Given the description of an element on the screen output the (x, y) to click on. 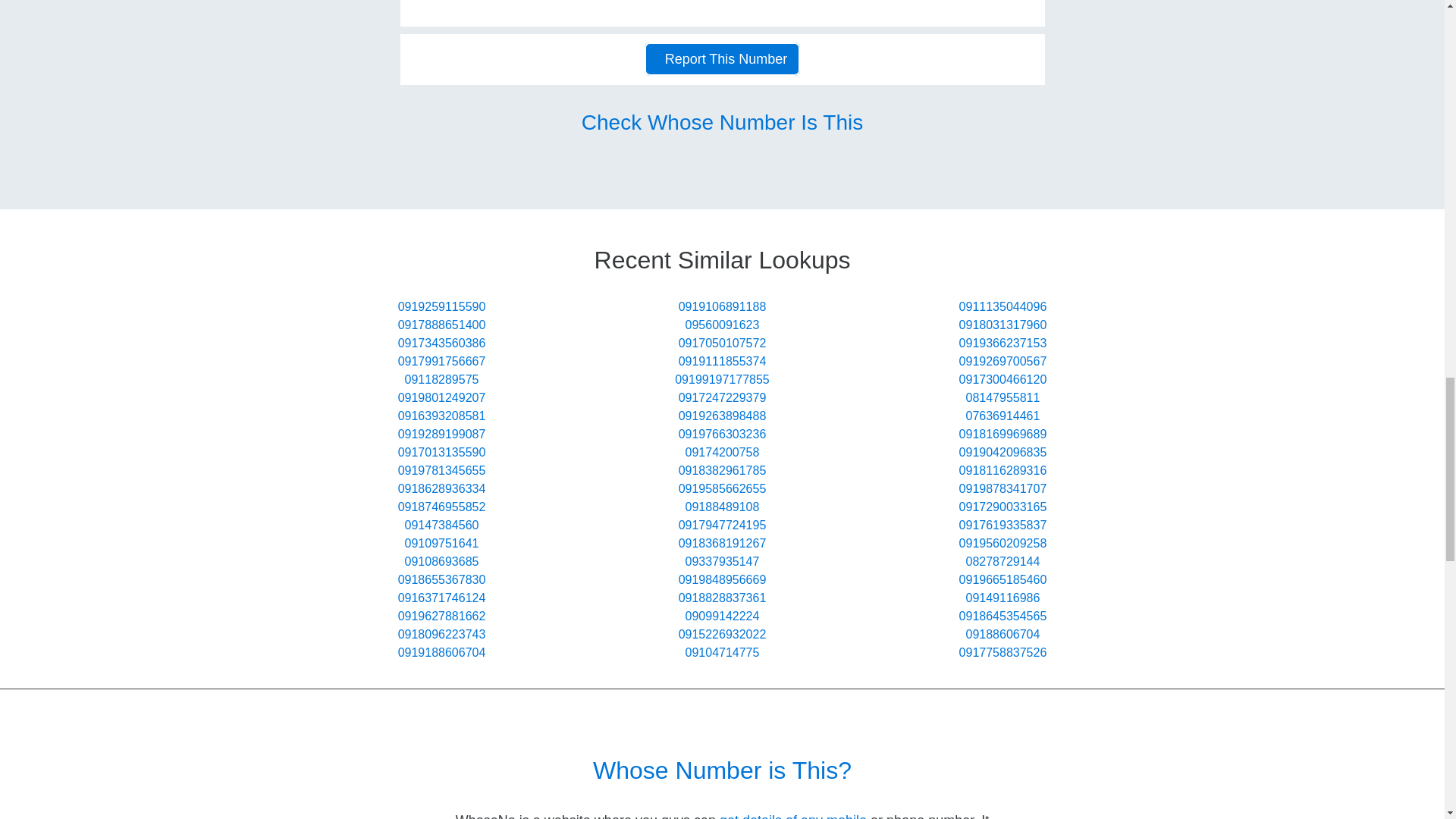
0919801249207 (441, 397)
0919106891188 (722, 306)
09118289575 (441, 379)
0918031317960 (1002, 324)
0917300466120 (1002, 379)
0917050107572 (722, 342)
09199197177855 (722, 379)
0919269700567 (1002, 360)
  Report This Number (722, 59)
0917888651400 (441, 324)
08147955811 (1003, 397)
0917247229379 (722, 397)
09560091623 (722, 324)
0917991756667 (441, 360)
0919111855374 (722, 360)
